Given the description of an element on the screen output the (x, y) to click on. 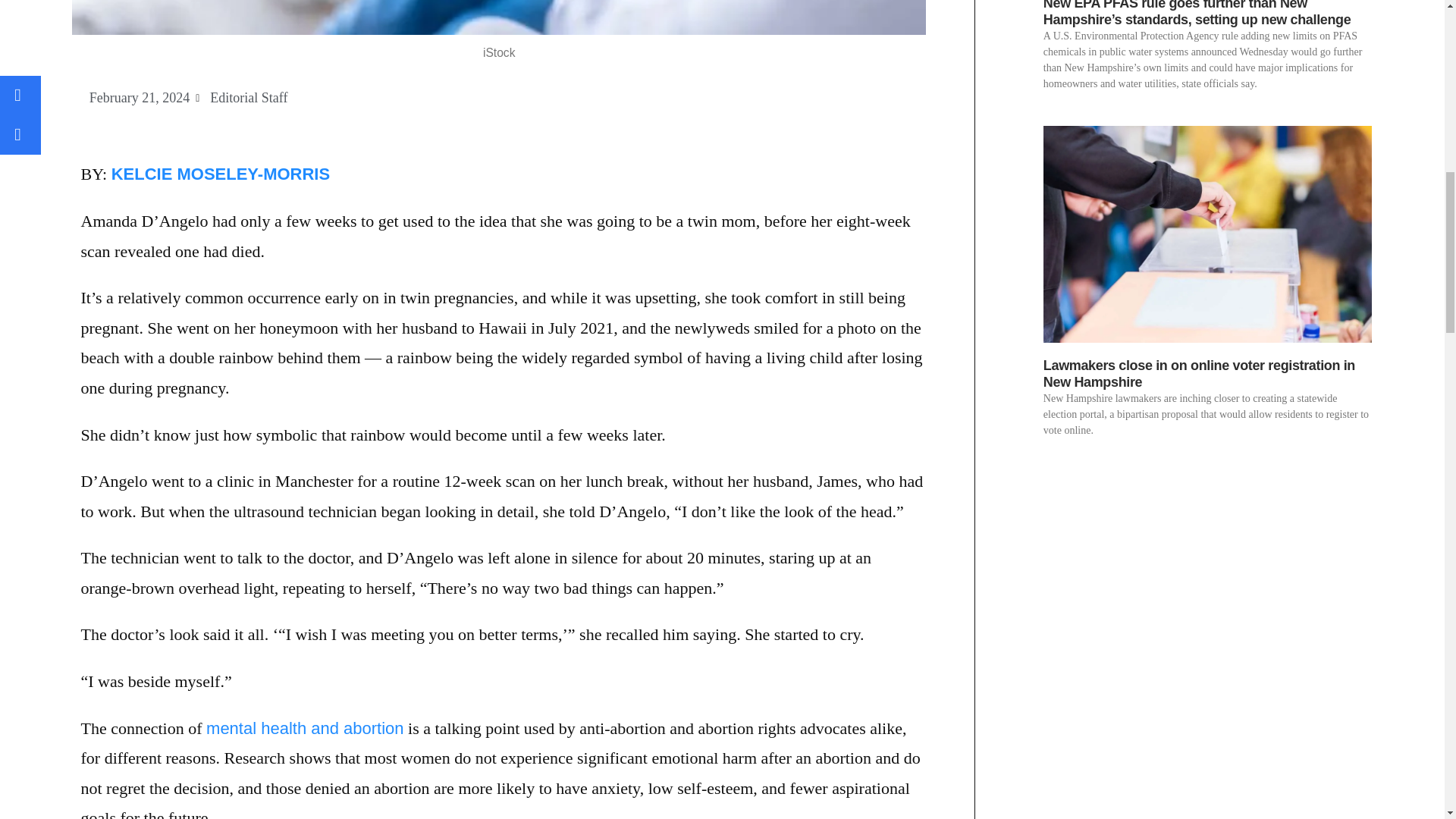
mental health and abortion (305, 728)
KELCIE MOSELEY-MORRIS (221, 173)
